Given the description of an element on the screen output the (x, y) to click on. 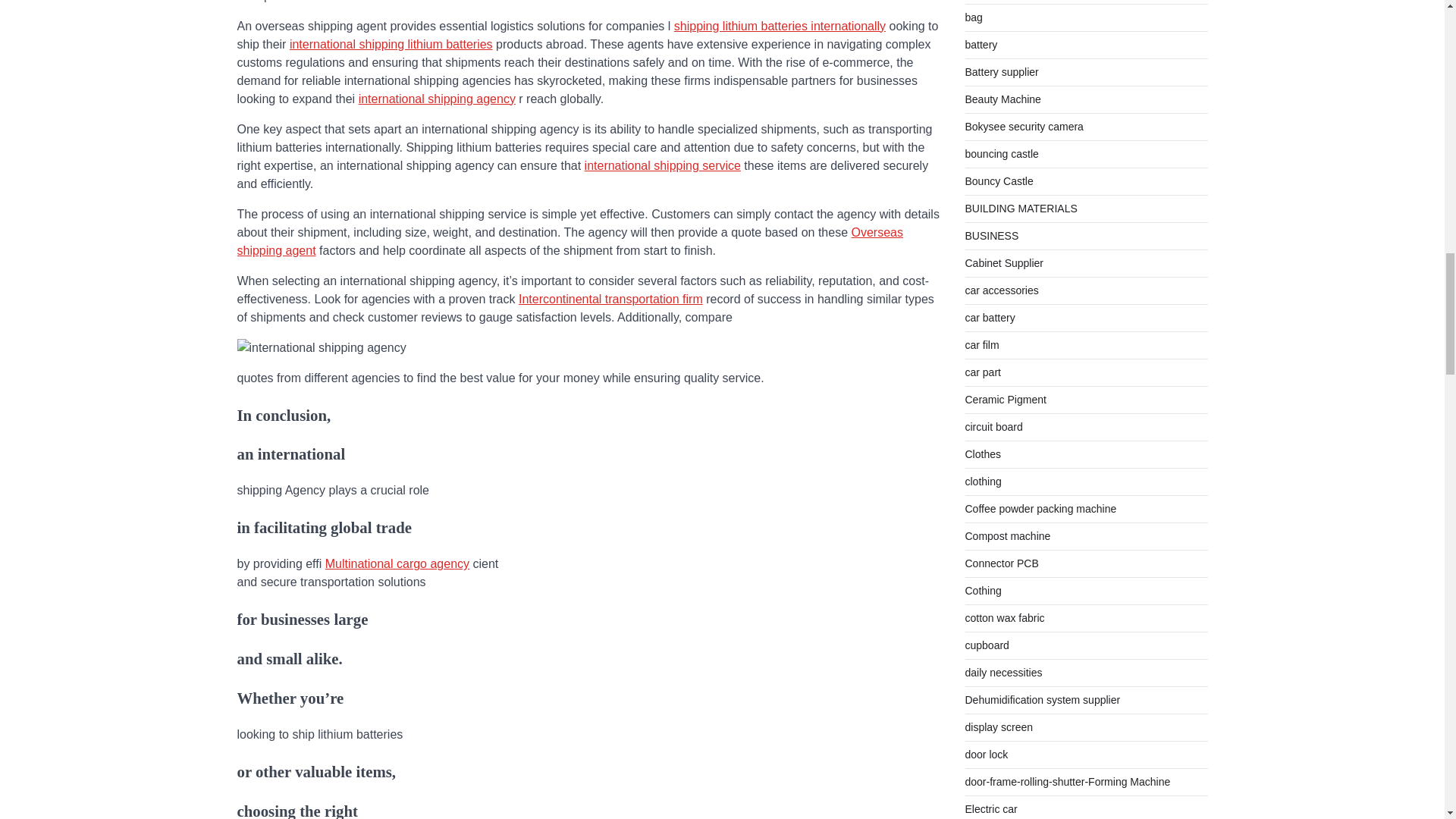
Overseas shipping agent (568, 241)
Intercontinental transportation firm (610, 298)
international shipping lithium batteries (391, 43)
shipping lithium batteries internationally (779, 25)
Multinational cargo agency (396, 563)
international shipping agency (436, 98)
international shipping service (663, 164)
